Given the description of an element on the screen output the (x, y) to click on. 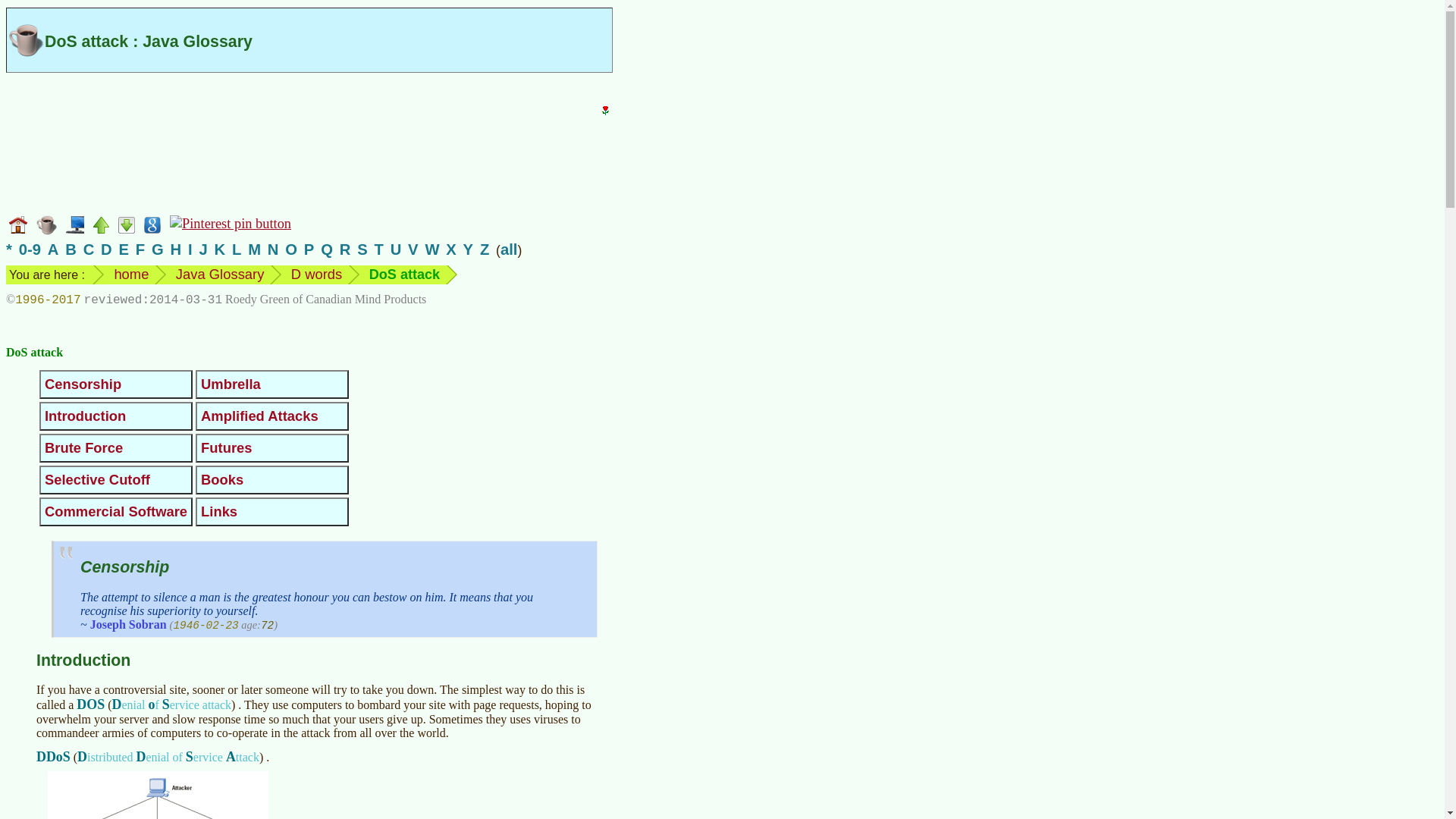
Java Glossary (220, 273)
0-9 (29, 248)
all (509, 248)
Censorship (82, 383)
D words (316, 273)
home (130, 273)
